Given the description of an element on the screen output the (x, y) to click on. 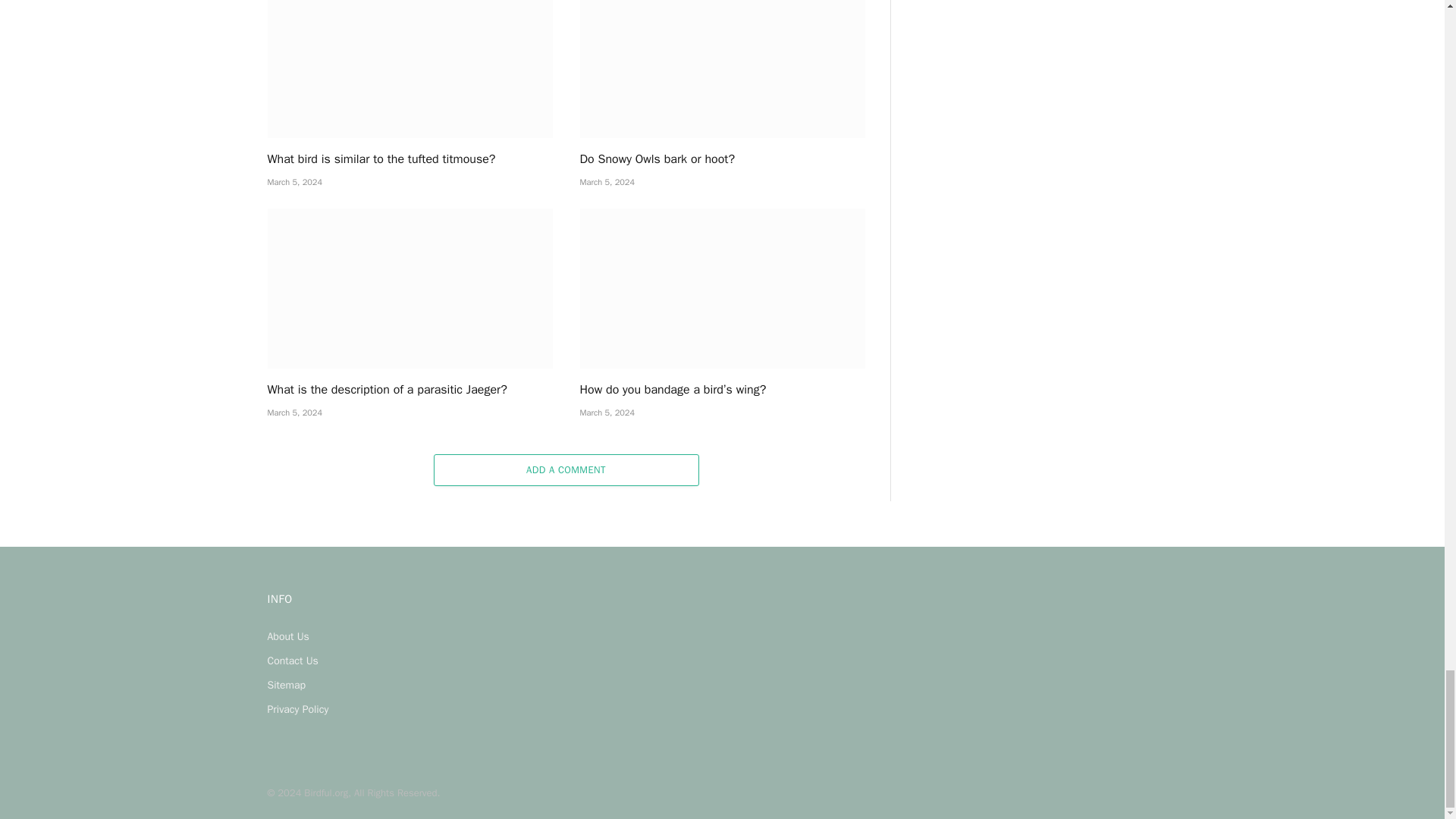
ADD A COMMENT (565, 470)
What bird is similar to the tufted titmouse? (408, 69)
What bird is similar to the tufted titmouse? (408, 158)
What is the description of a parasitic Jaeger? (408, 288)
Do Snowy Owls bark or hoot? (721, 69)
Do Snowy Owls bark or hoot? (721, 158)
What is the description of a parasitic Jaeger? (408, 389)
About Us (287, 635)
